Given the description of an element on the screen output the (x, y) to click on. 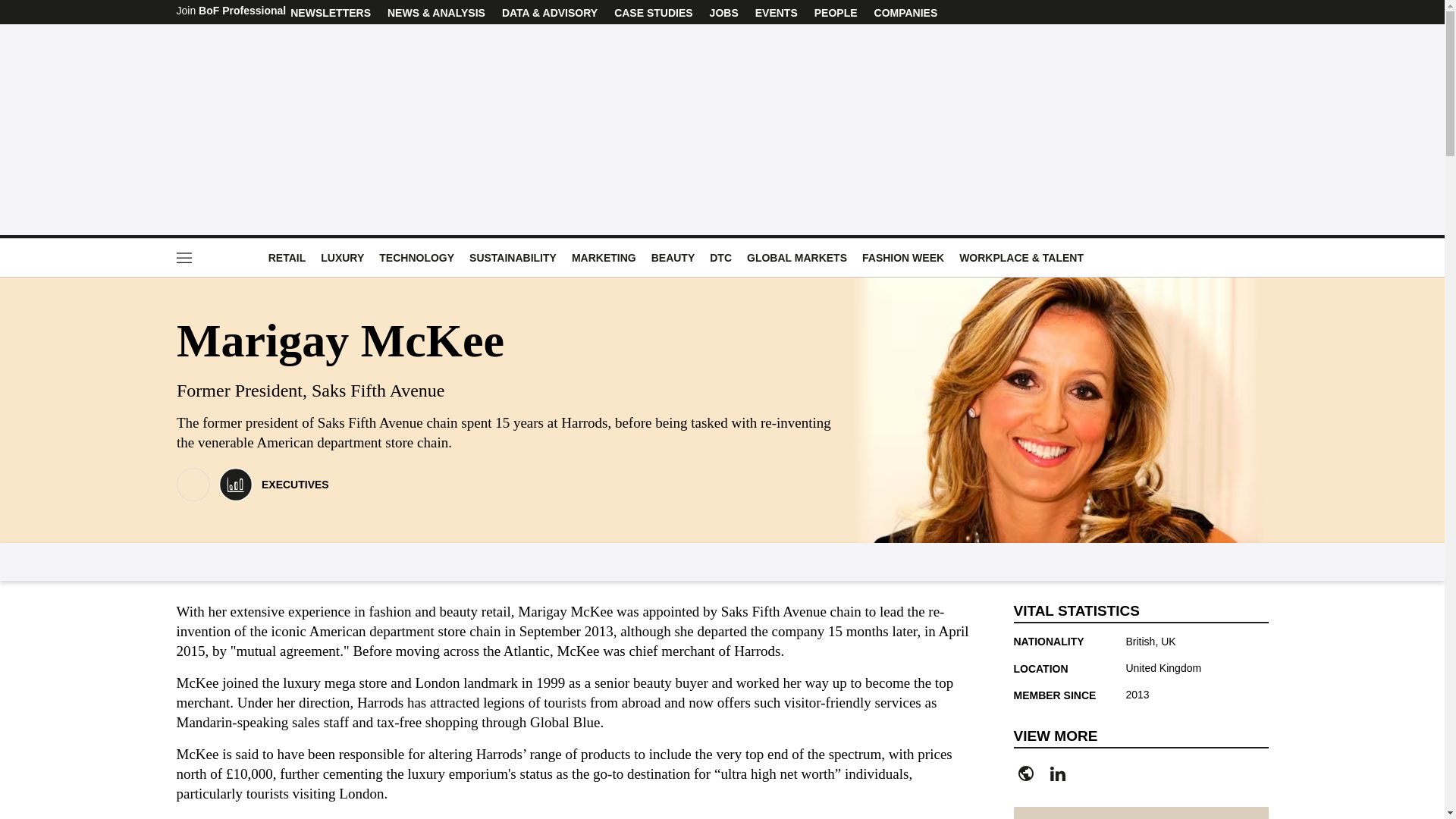
JOBS (724, 12)
COMPANIES (906, 12)
Join BoF Professional (230, 12)
CASE STUDIES (652, 12)
EVENTS (775, 12)
NEWSLETTERS (330, 12)
PEOPLE (836, 12)
